Given the description of an element on the screen output the (x, y) to click on. 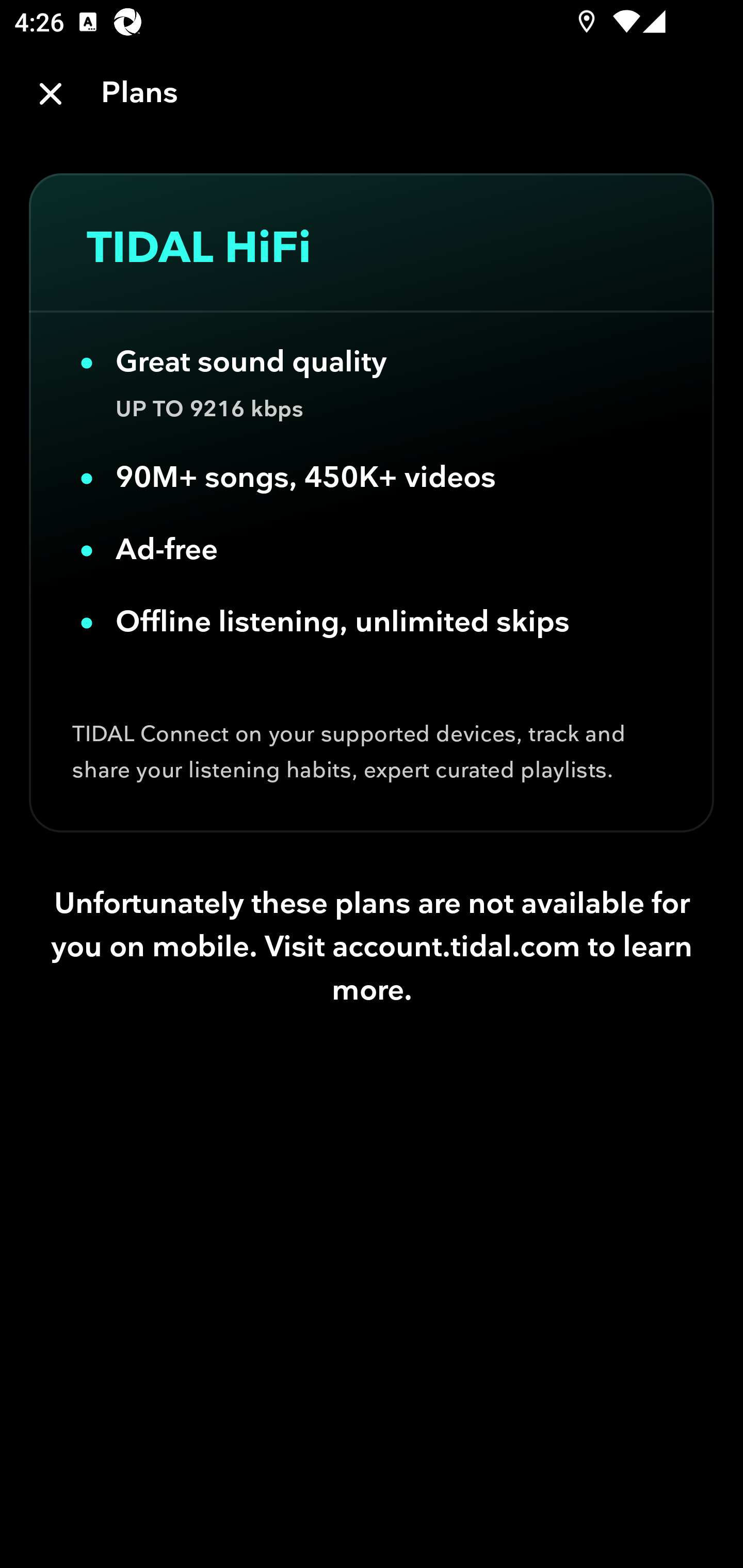
Close (50, 93)
